Given the description of an element on the screen output the (x, y) to click on. 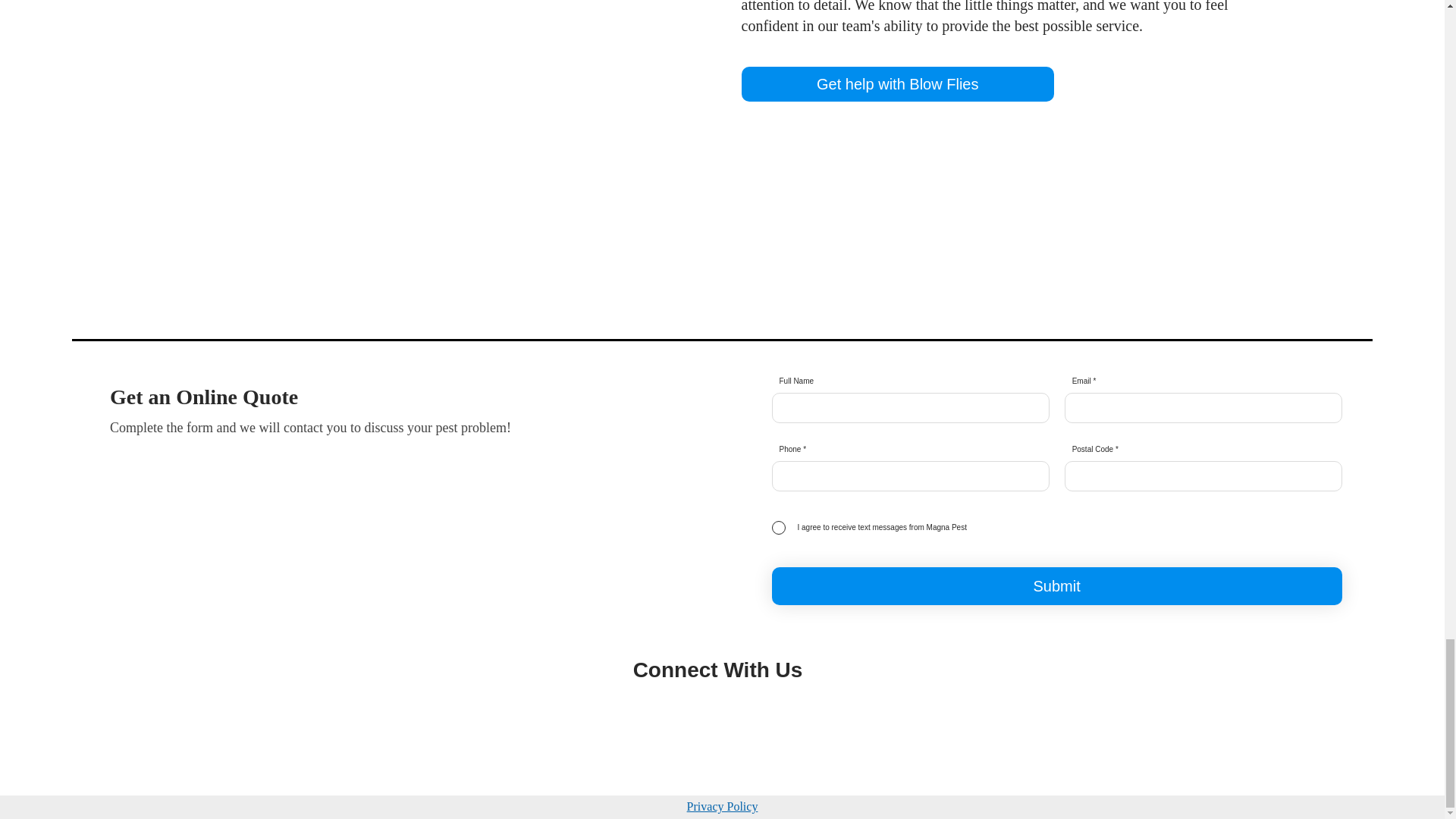
Privacy Policy (722, 806)
Get help with Blow Flies (897, 83)
Submit (1056, 586)
